Given the description of an element on the screen output the (x, y) to click on. 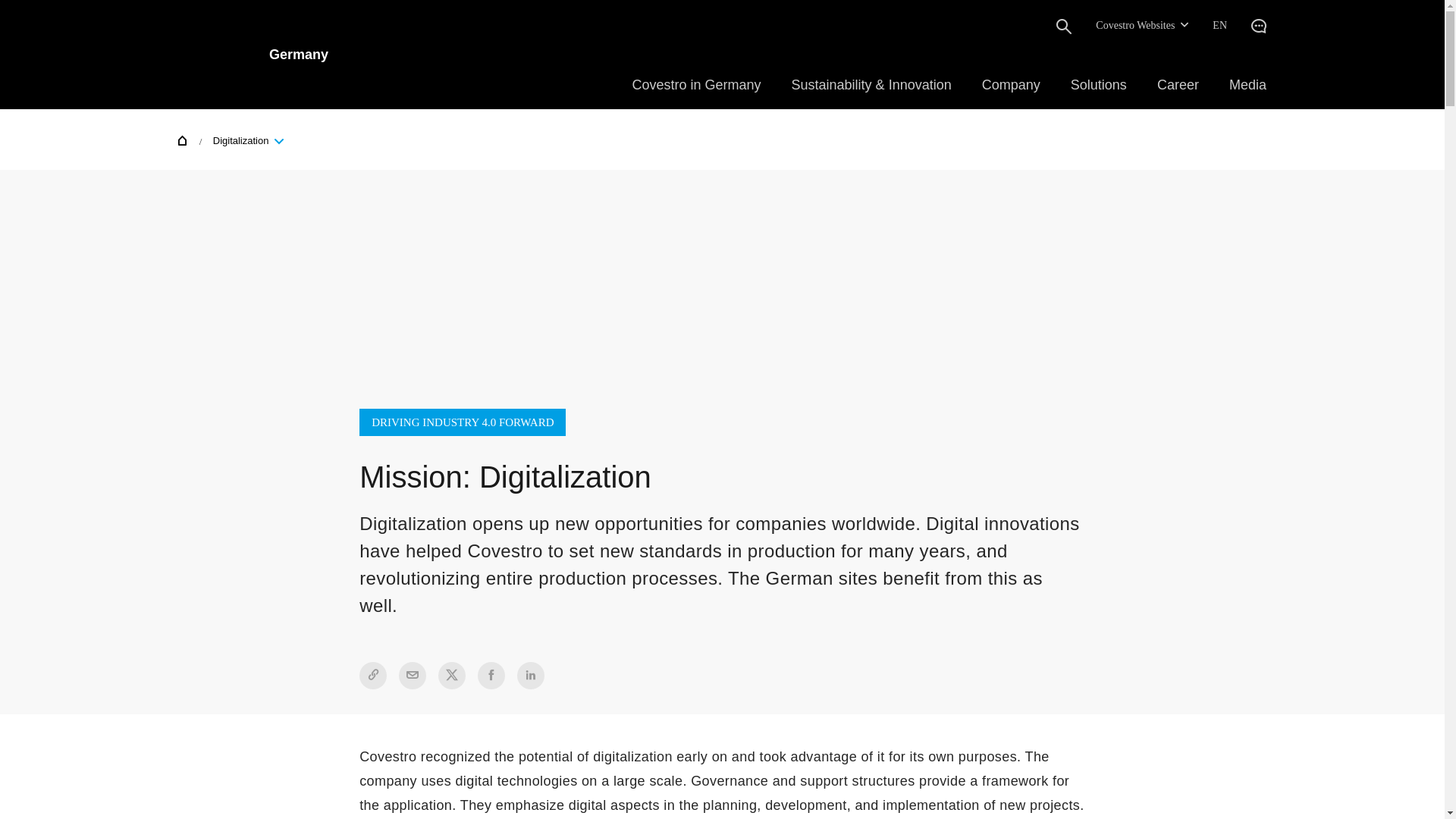
Digitalizing the core business (308, 749)
Digitalizing the core business (315, 770)
Solutions (1098, 85)
Germany (253, 54)
Covestro in Germany (696, 85)
Digitalization (245, 140)
Home Digitalization (234, 138)
Company (1011, 85)
